Given the description of an element on the screen output the (x, y) to click on. 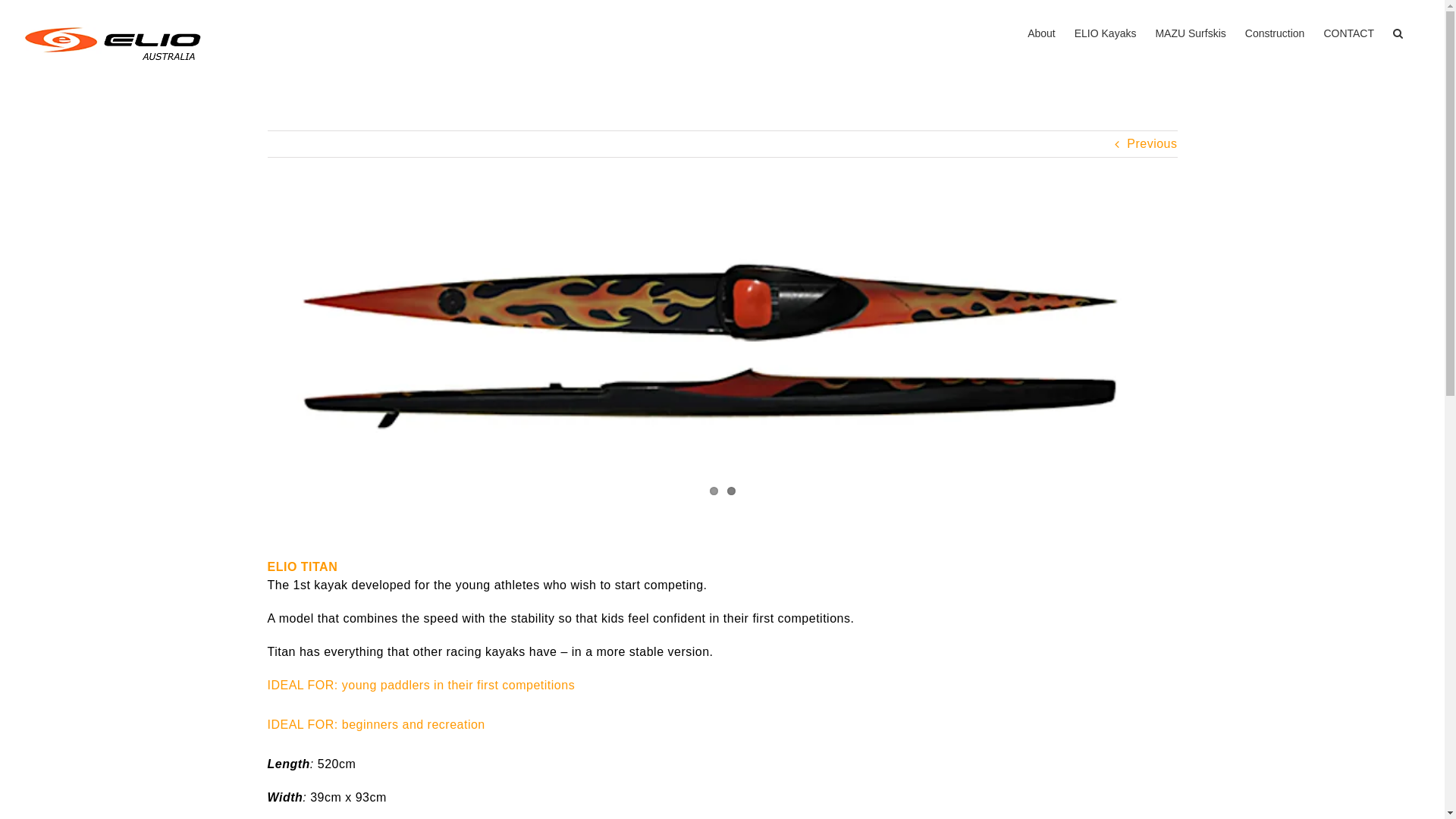
Search Element type: hover (1397, 31)
ELIO Kayaks Element type: text (1105, 31)
About Element type: text (1041, 31)
CONTACT Element type: text (1348, 31)
MAZU Surfskis Element type: text (1189, 31)
Previous Element type: text (1151, 143)
1 Element type: text (713, 490)
Construction Element type: text (1275, 31)
2 Element type: text (730, 490)
View Larger Image Element type: text (721, 354)
